Given the description of an element on the screen output the (x, y) to click on. 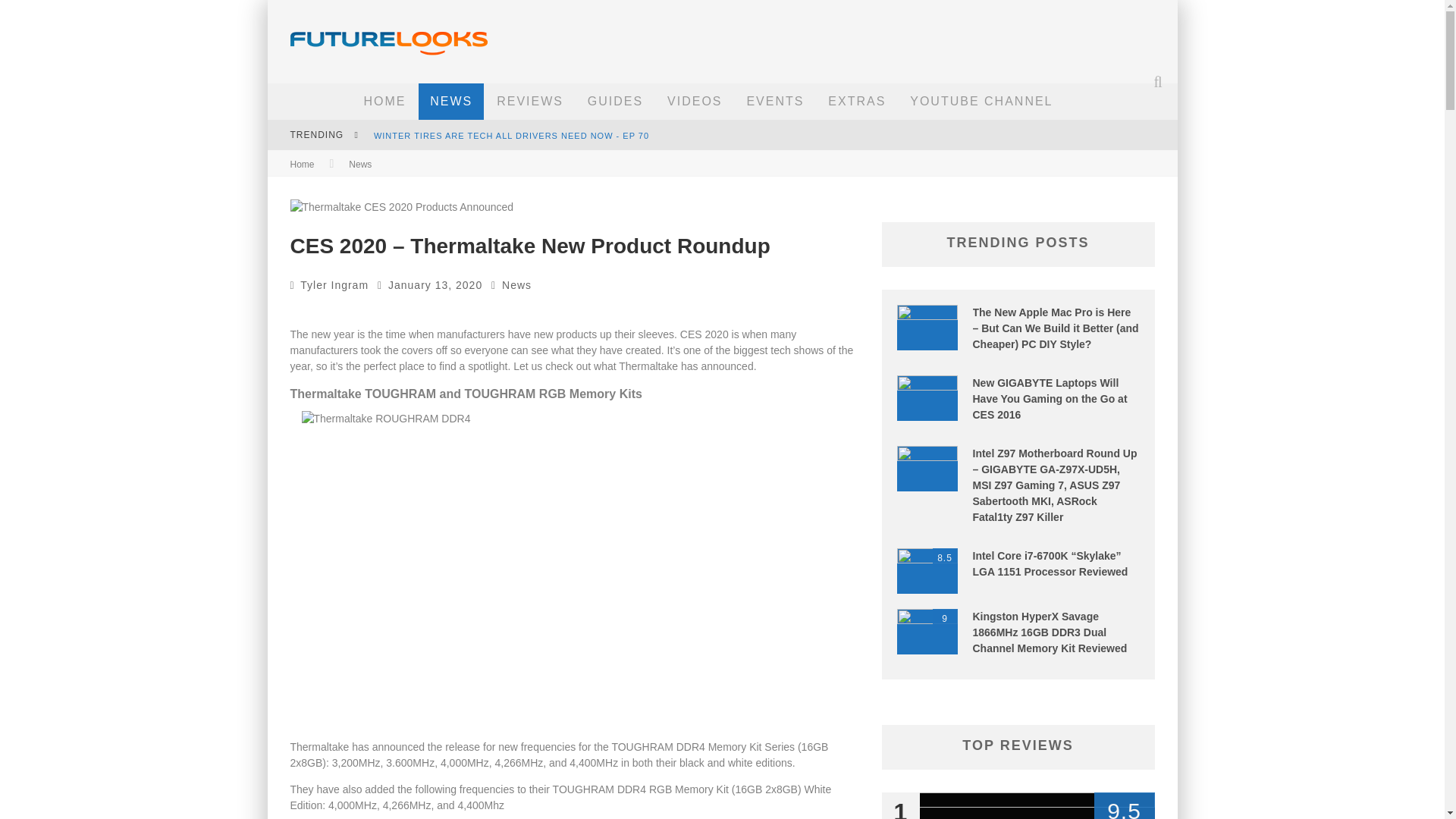
HOME (384, 101)
View all posts in News (516, 285)
NEWS (451, 101)
View all posts in News (360, 163)
Winter Tires Are Tech ALL Drivers Need Now - EP 70 (511, 135)
REVIEWS (529, 101)
